Given the description of an element on the screen output the (x, y) to click on. 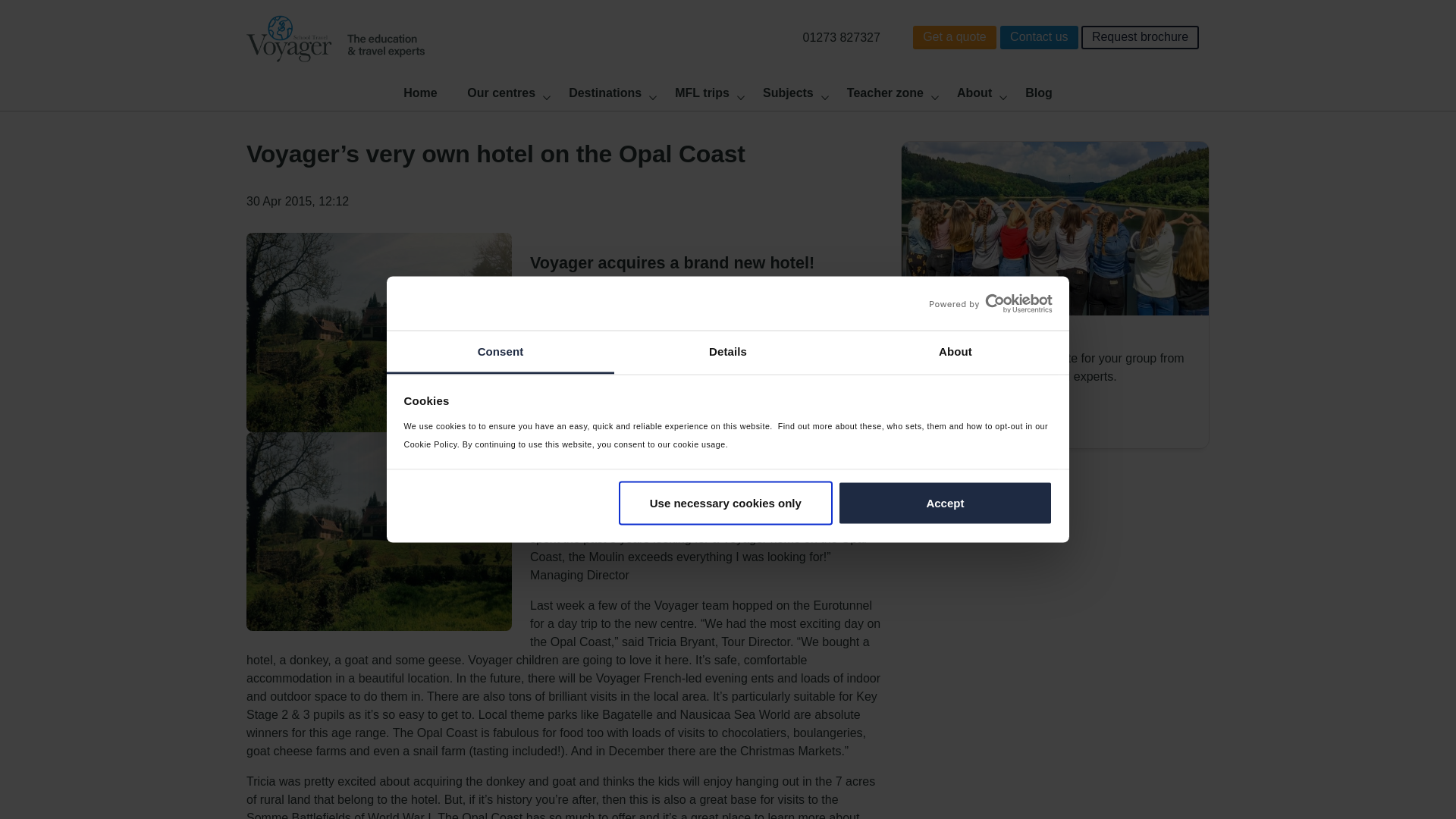
Details (727, 351)
About (954, 351)
Consent (500, 351)
